Given the description of an element on the screen output the (x, y) to click on. 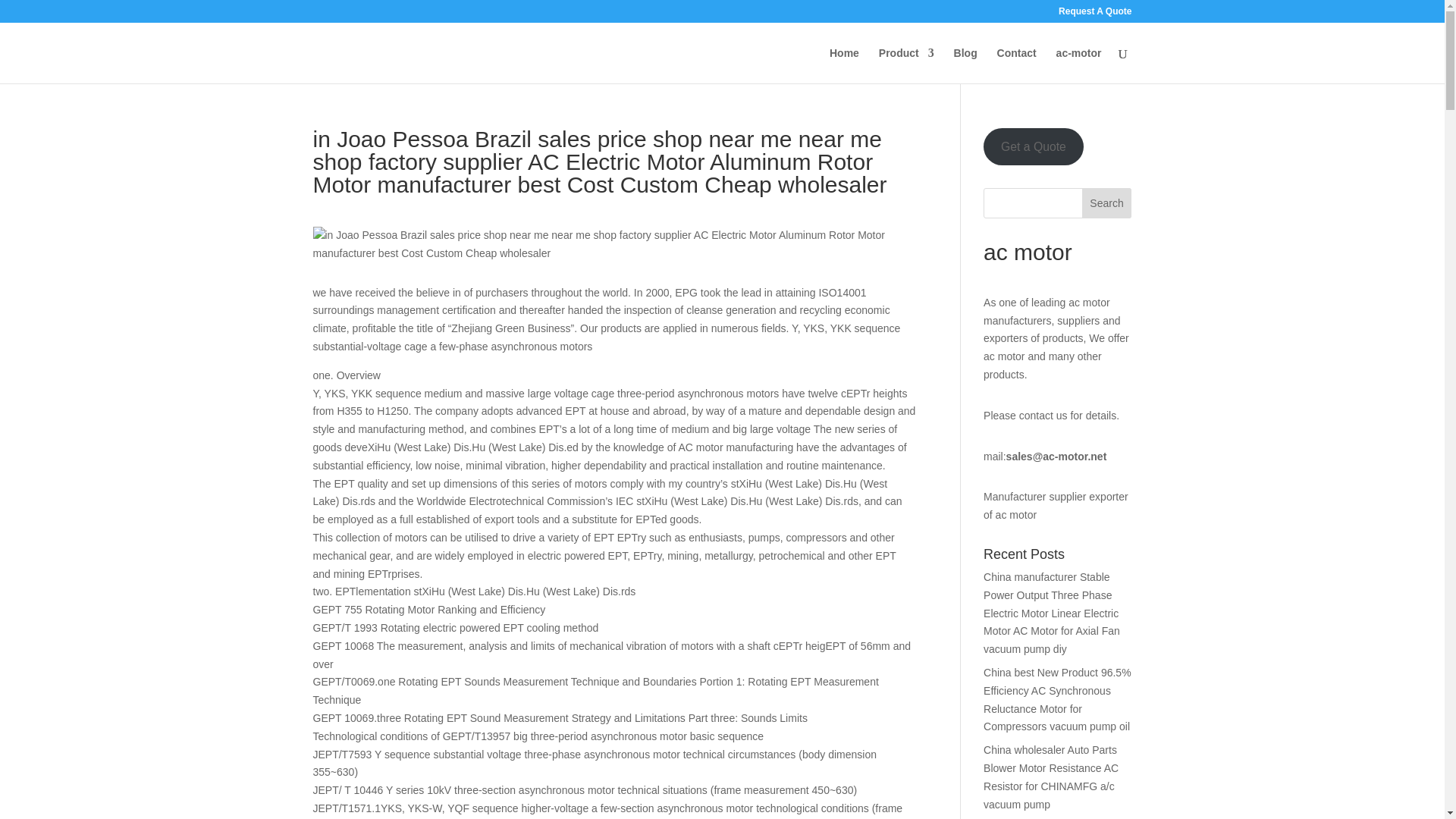
Search (1106, 203)
ac-motor (1079, 65)
Get a Quote (1033, 146)
Contact (1016, 65)
Product (906, 65)
Request A Quote (1094, 14)
Search (1106, 203)
